Given the description of an element on the screen output the (x, y) to click on. 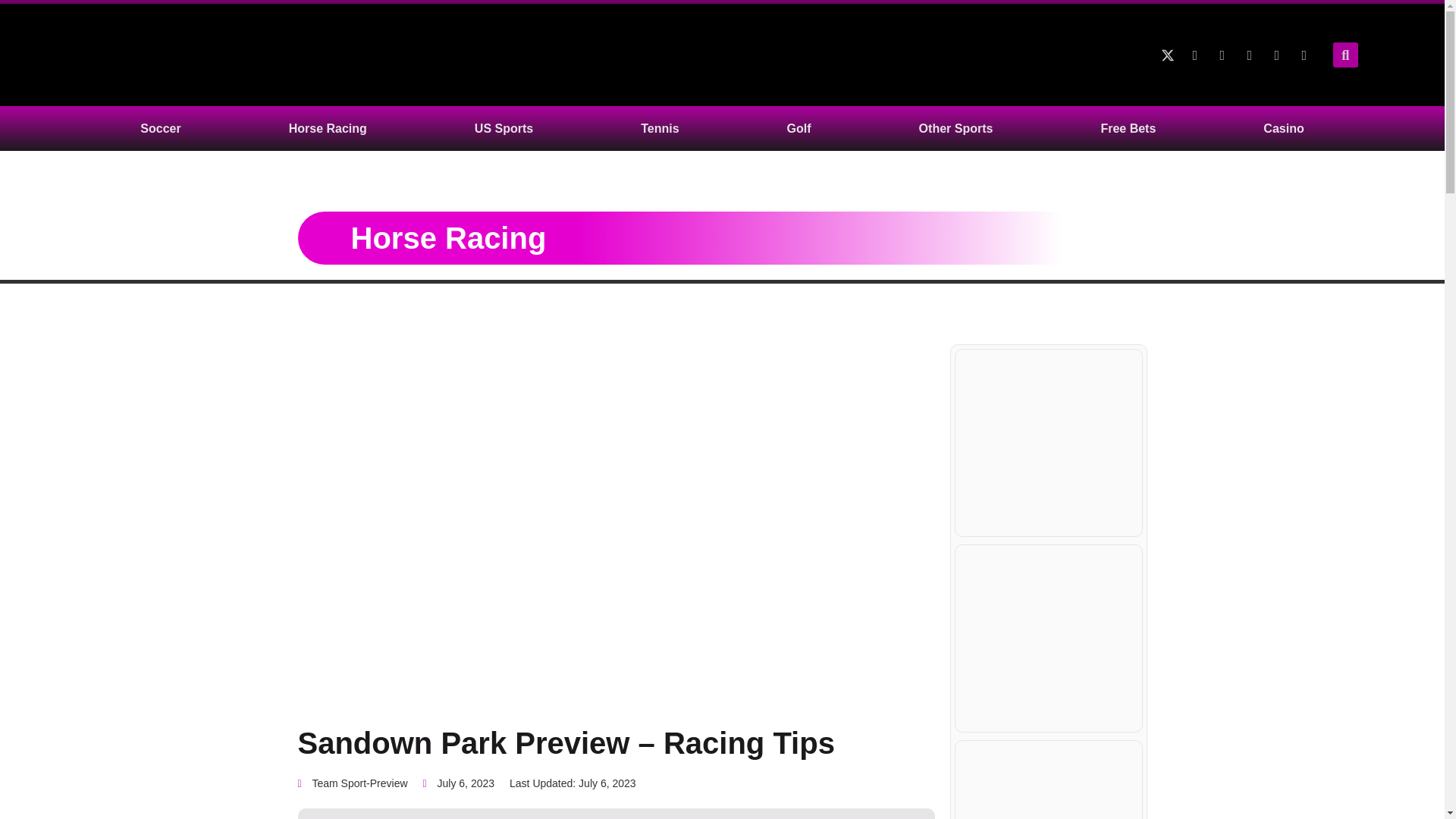
Casino (1282, 128)
Other Sports (955, 128)
US Sports (503, 128)
Team Sport-Preview (352, 783)
Free Bets (1127, 128)
Horse Racing (448, 237)
Golf (798, 128)
Tennis (659, 128)
Soccer (159, 128)
Horse Racing (327, 128)
